Given the description of an element on the screen output the (x, y) to click on. 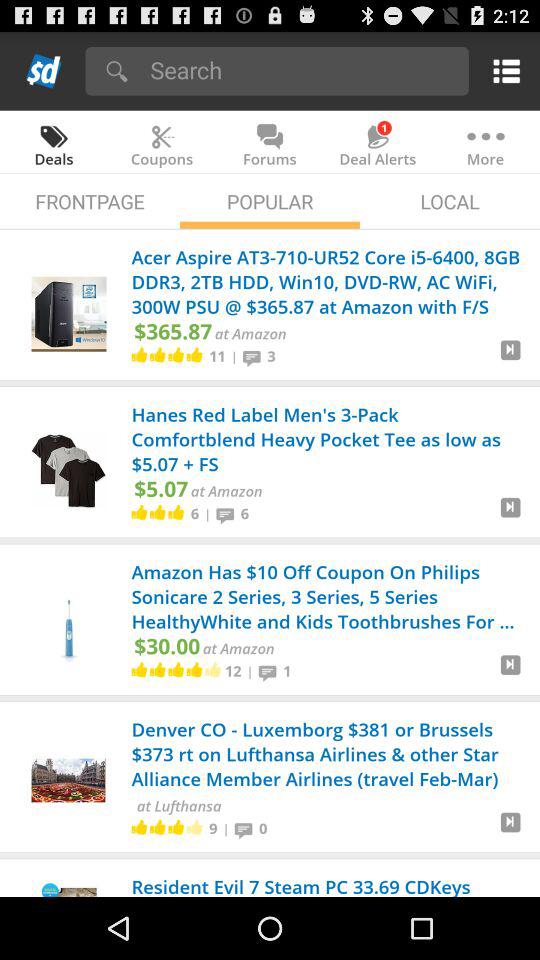
tap item below the $365.87 icon (217, 355)
